Given the description of an element on the screen output the (x, y) to click on. 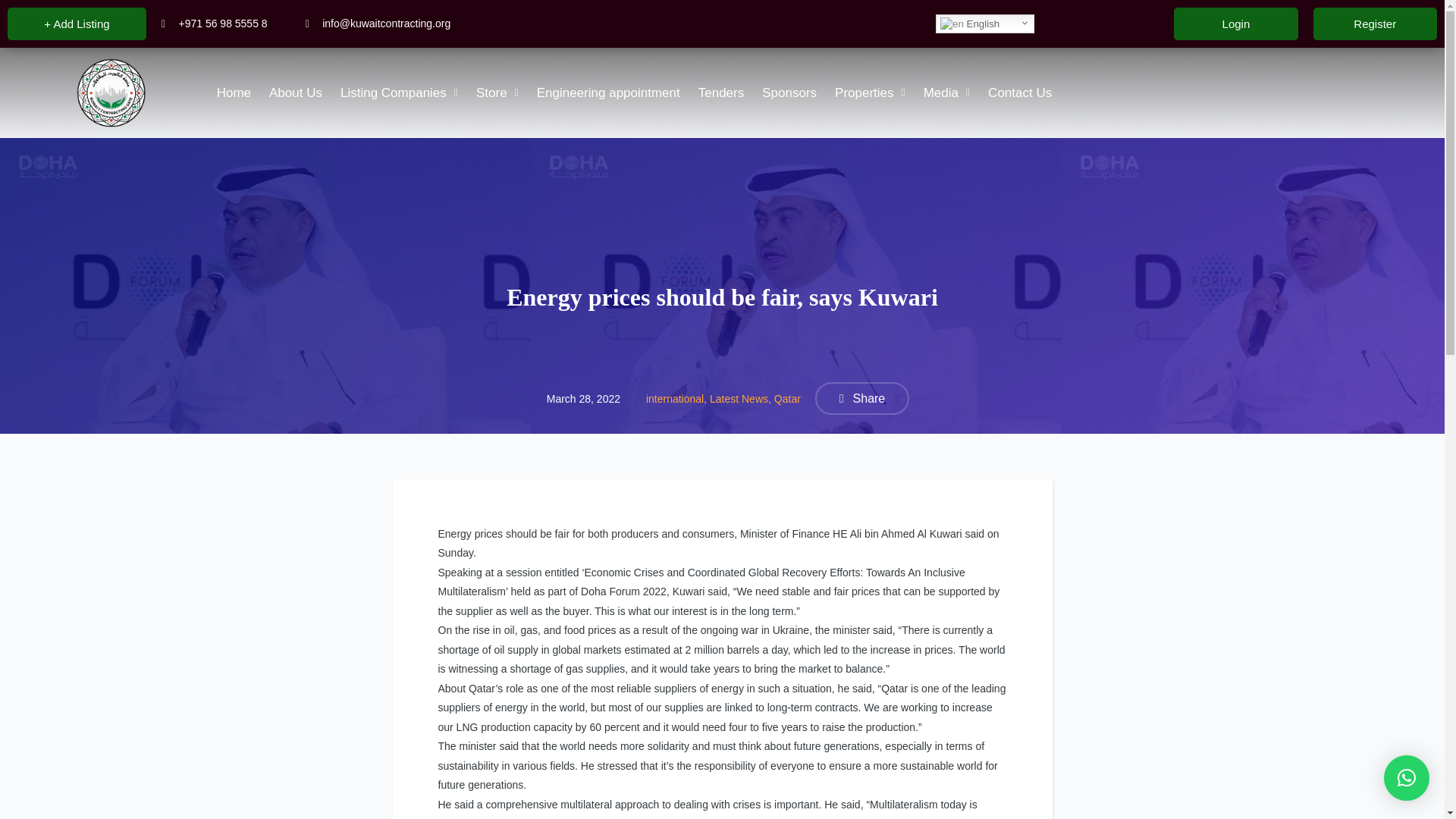
Engineering appointment (607, 92)
Listing Companies (399, 92)
English (985, 23)
Register (1375, 23)
Properties (869, 92)
Store (497, 92)
Tenders (720, 92)
Login (1235, 23)
Home (234, 92)
Sponsors (788, 92)
About Us (295, 92)
